Given the description of an element on the screen output the (x, y) to click on. 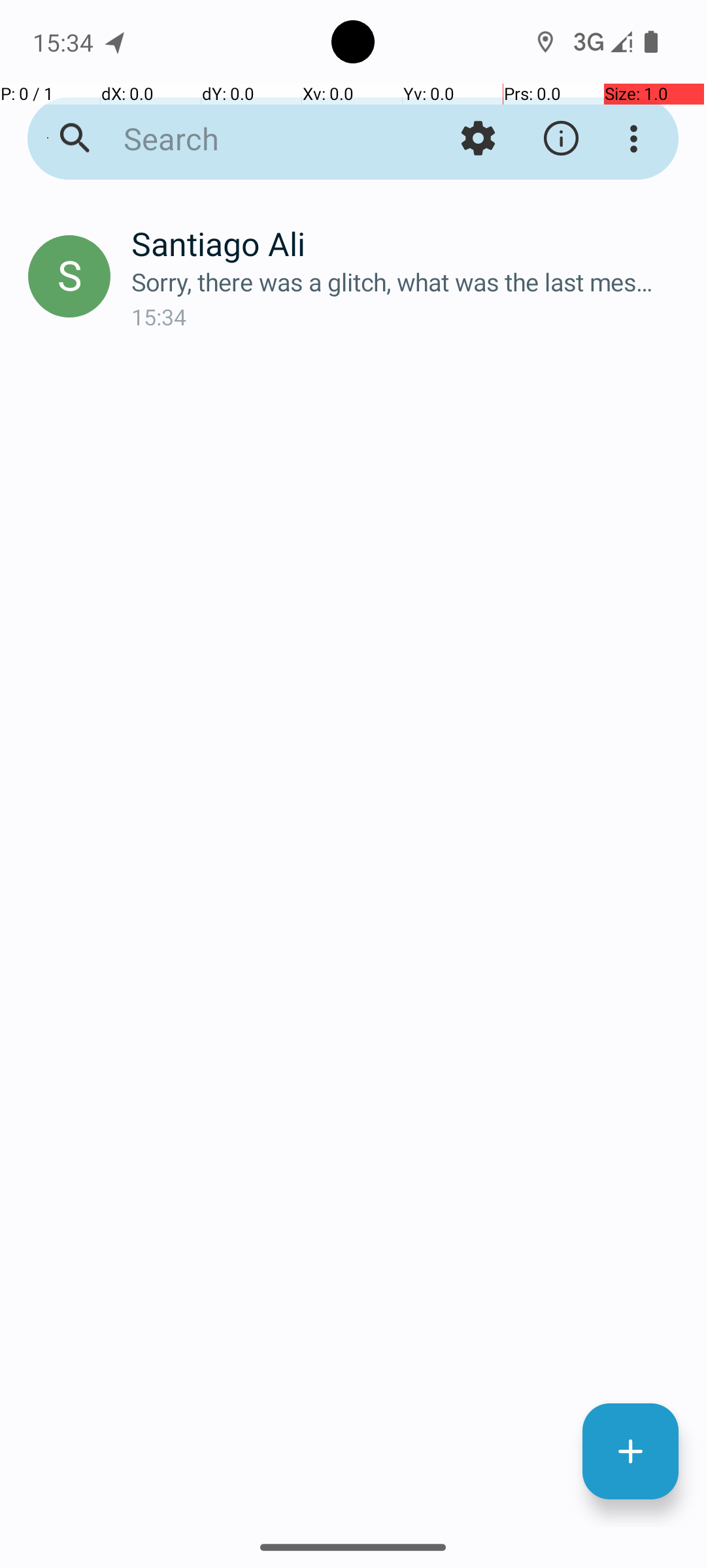
Santiago Ali Element type: android.widget.TextView (408, 242)
